Given the description of an element on the screen output the (x, y) to click on. 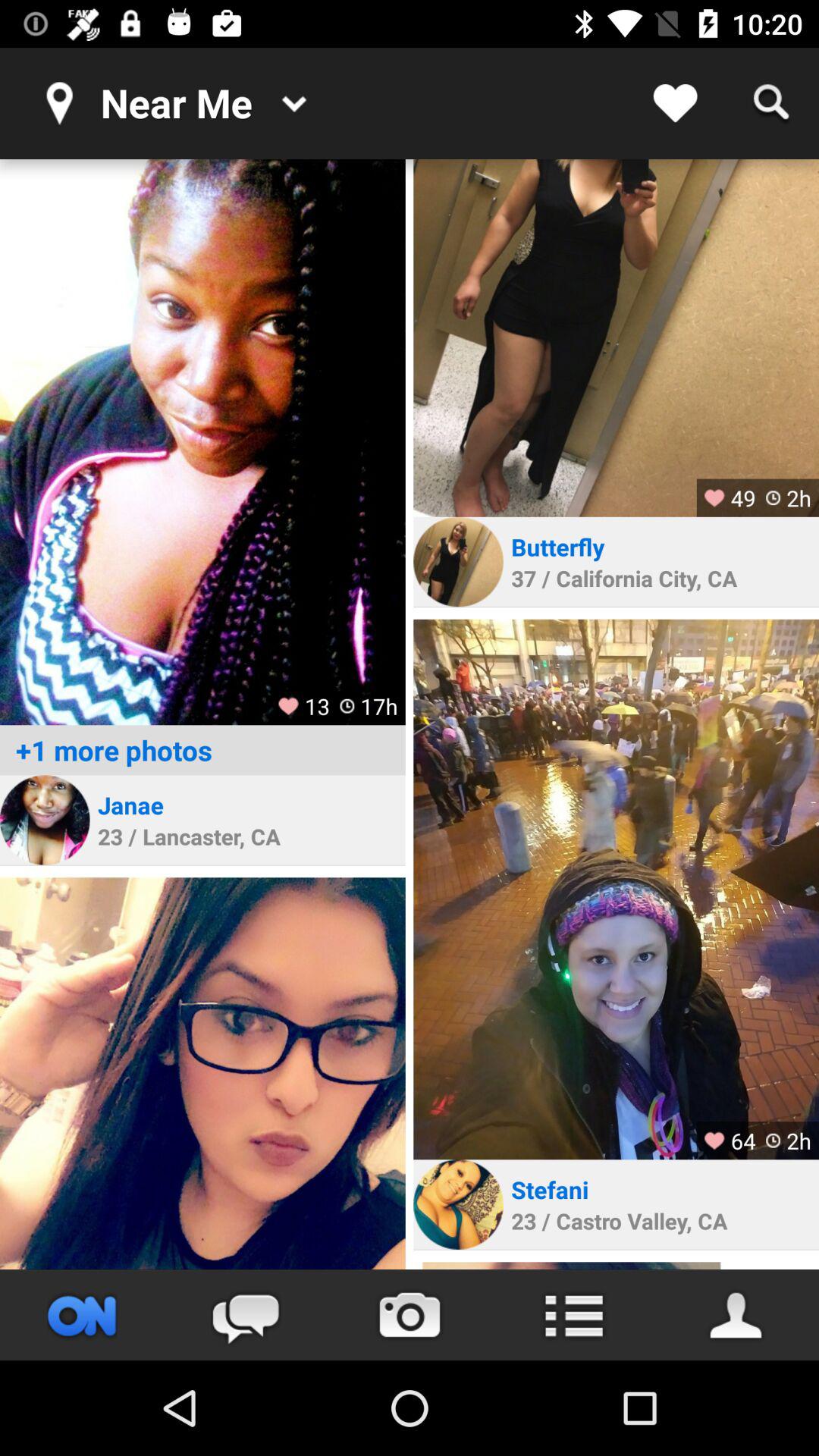
take a picture (409, 1315)
